Given the description of an element on the screen output the (x, y) to click on. 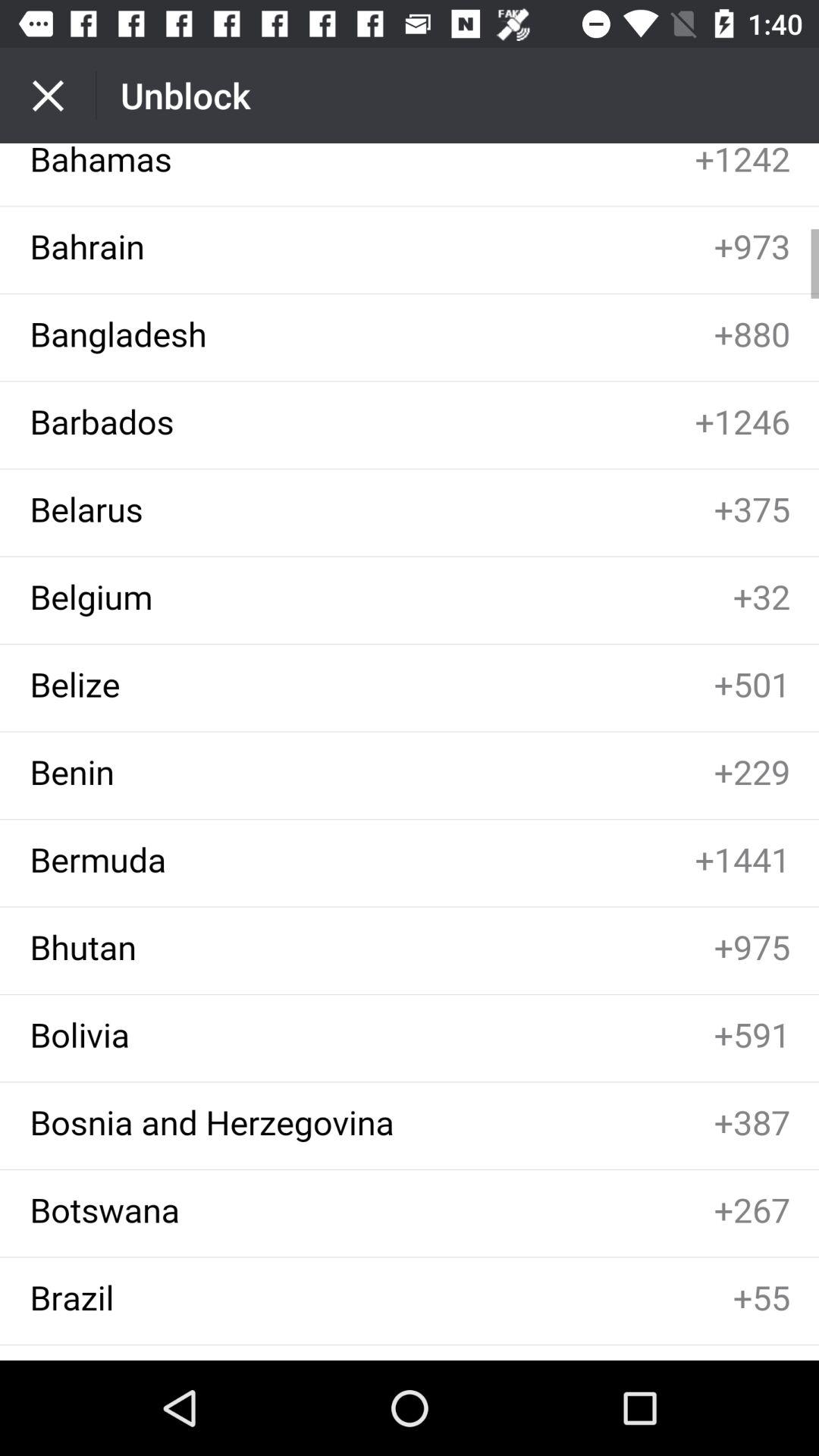
select location name (409, 751)
